Given the description of an element on the screen output the (x, y) to click on. 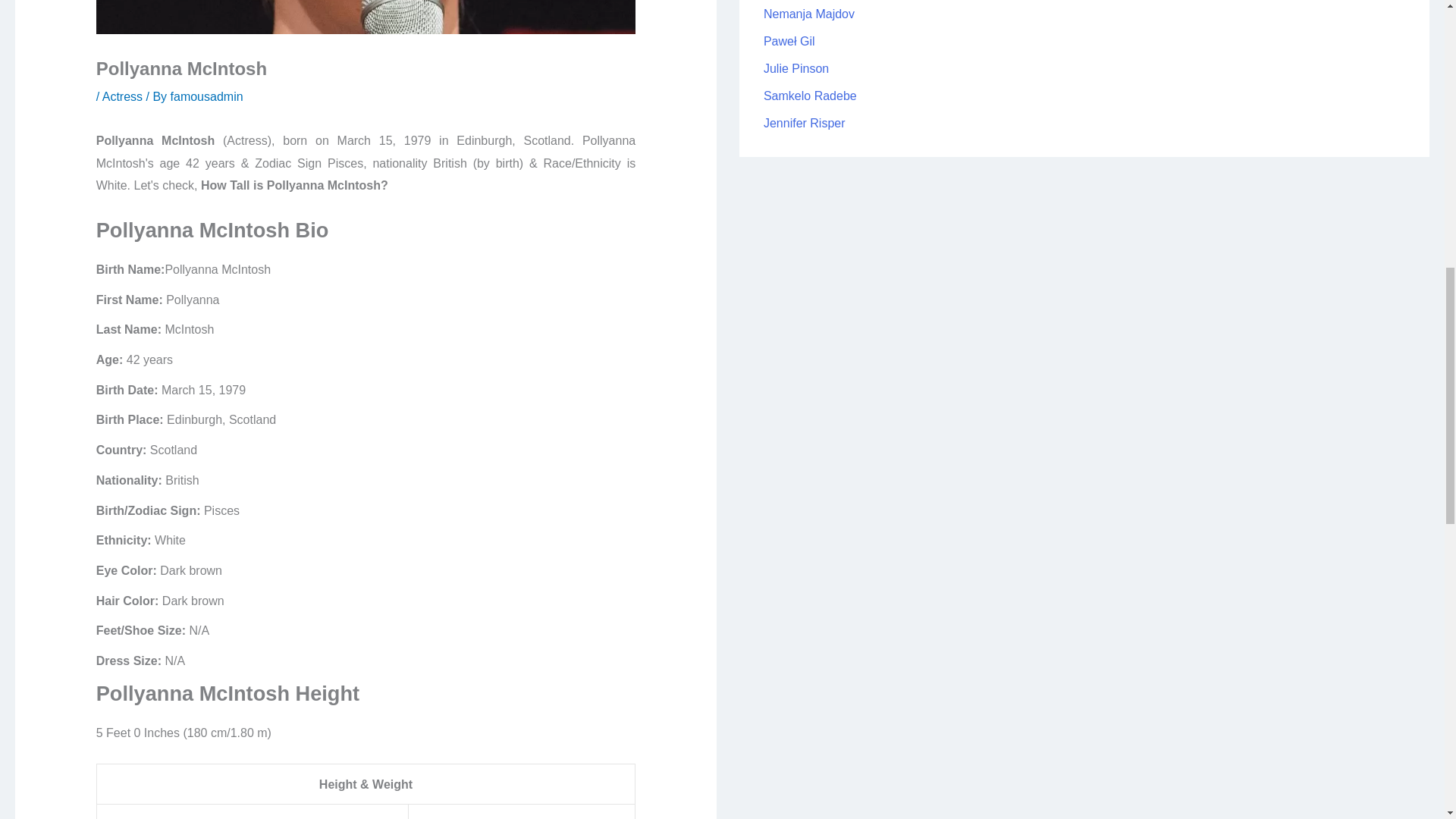
Samkelo Radebe (809, 95)
Julie Pinson (795, 68)
famousadmin (206, 96)
Jennifer Risper (803, 123)
Actress (121, 96)
Nemanja Majdov (808, 13)
View all posts by famousadmin (206, 96)
